Given the description of an element on the screen output the (x, y) to click on. 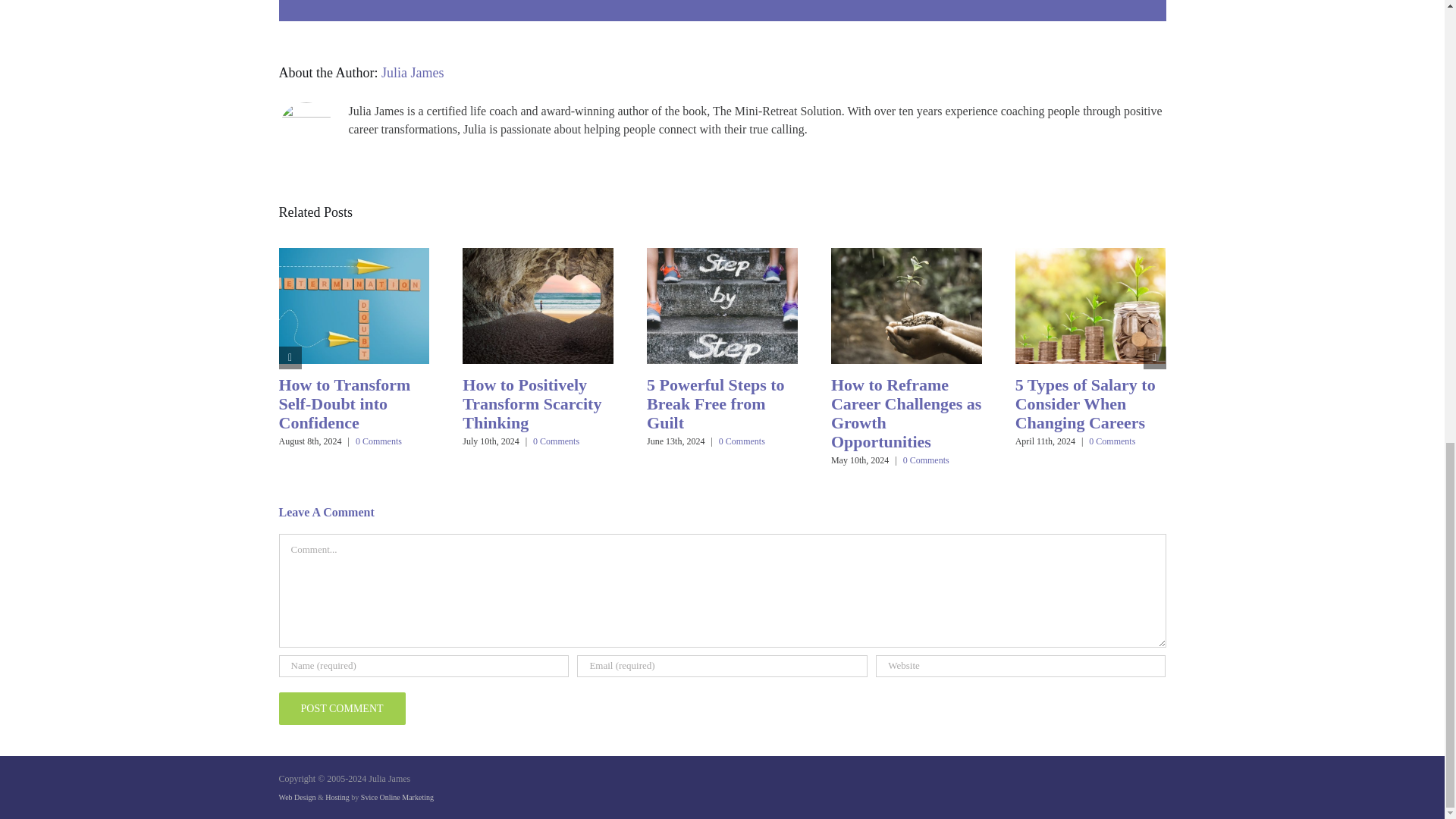
Posts by Julia James (412, 72)
How to Positively Transform Scarcity Thinking (532, 403)
Post Comment (342, 708)
Julia James (412, 72)
How to Transform Self-Doubt into Confidence (344, 403)
How to Positively Transform Scarcity Thinking (532, 403)
How to Transform Self-Doubt into Confidence (344, 403)
0 Comments (378, 440)
